Given the description of an element on the screen output the (x, y) to click on. 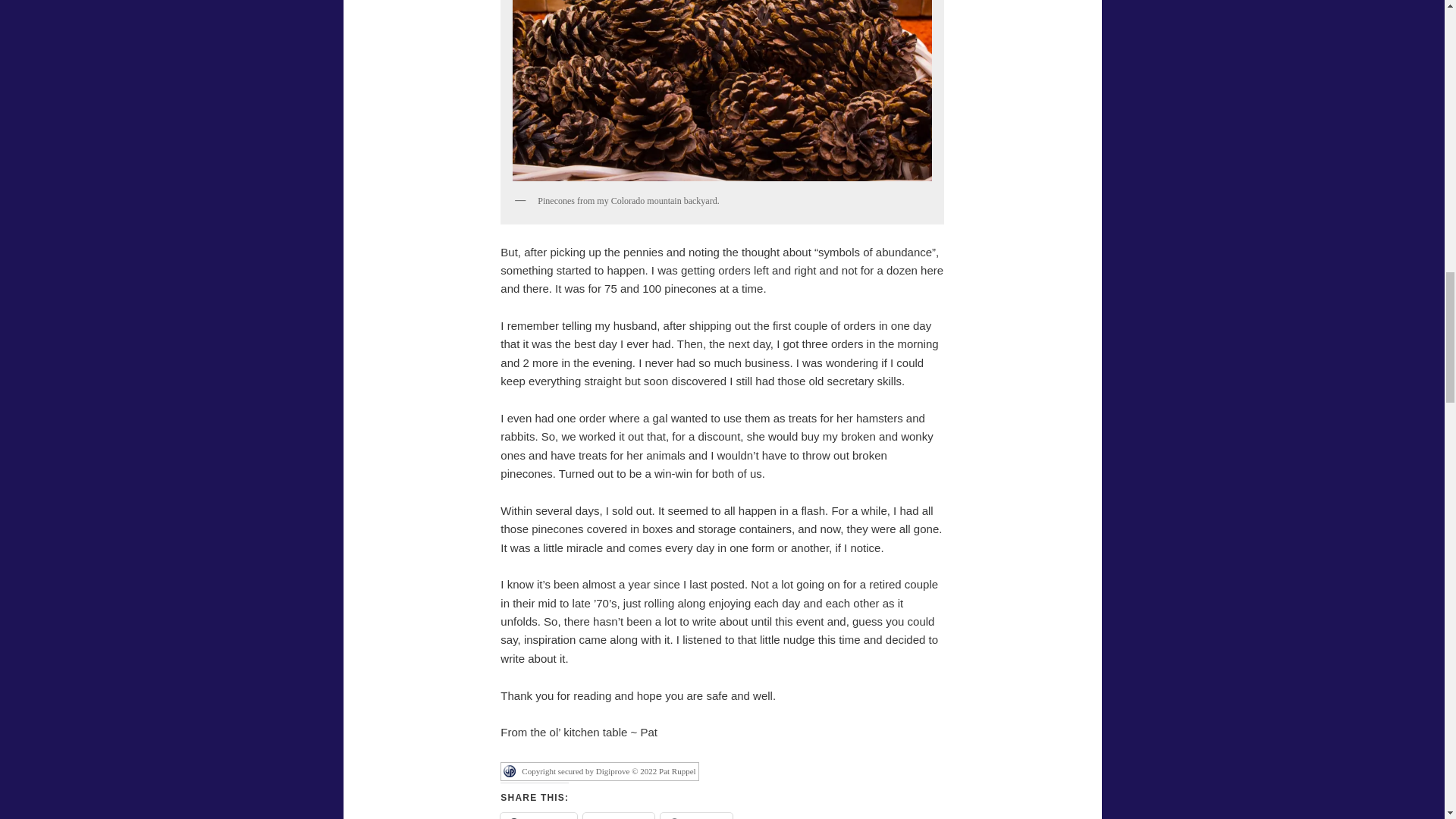
Click to share on Facebook (538, 816)
Pinterest (696, 816)
LinkedIn (618, 816)
Facebook (538, 816)
Click to share on LinkedIn (618, 816)
Click to share on Pinterest (696, 816)
